Given the description of an element on the screen output the (x, y) to click on. 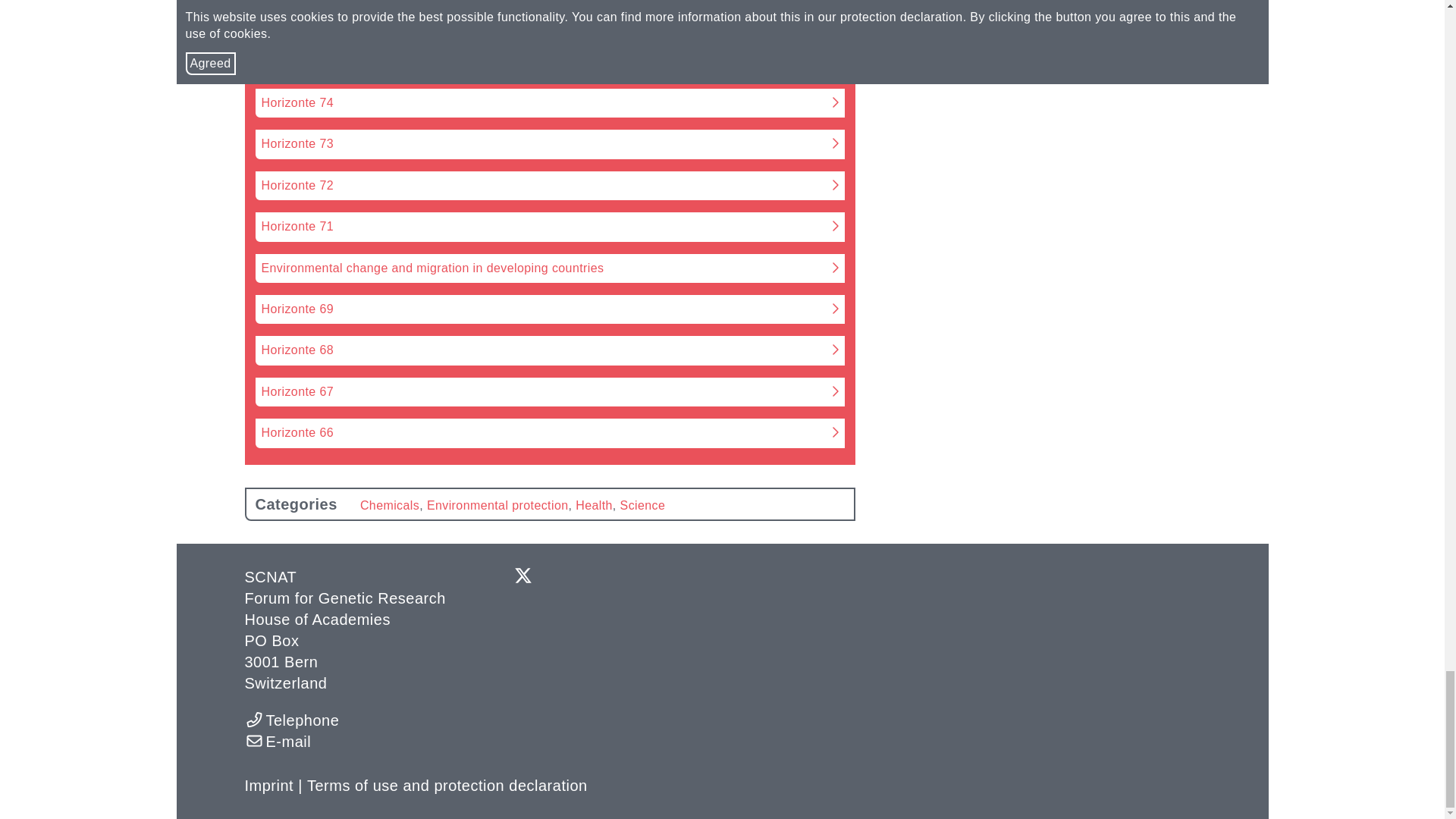
X (522, 577)
